Given the description of an element on the screen output the (x, y) to click on. 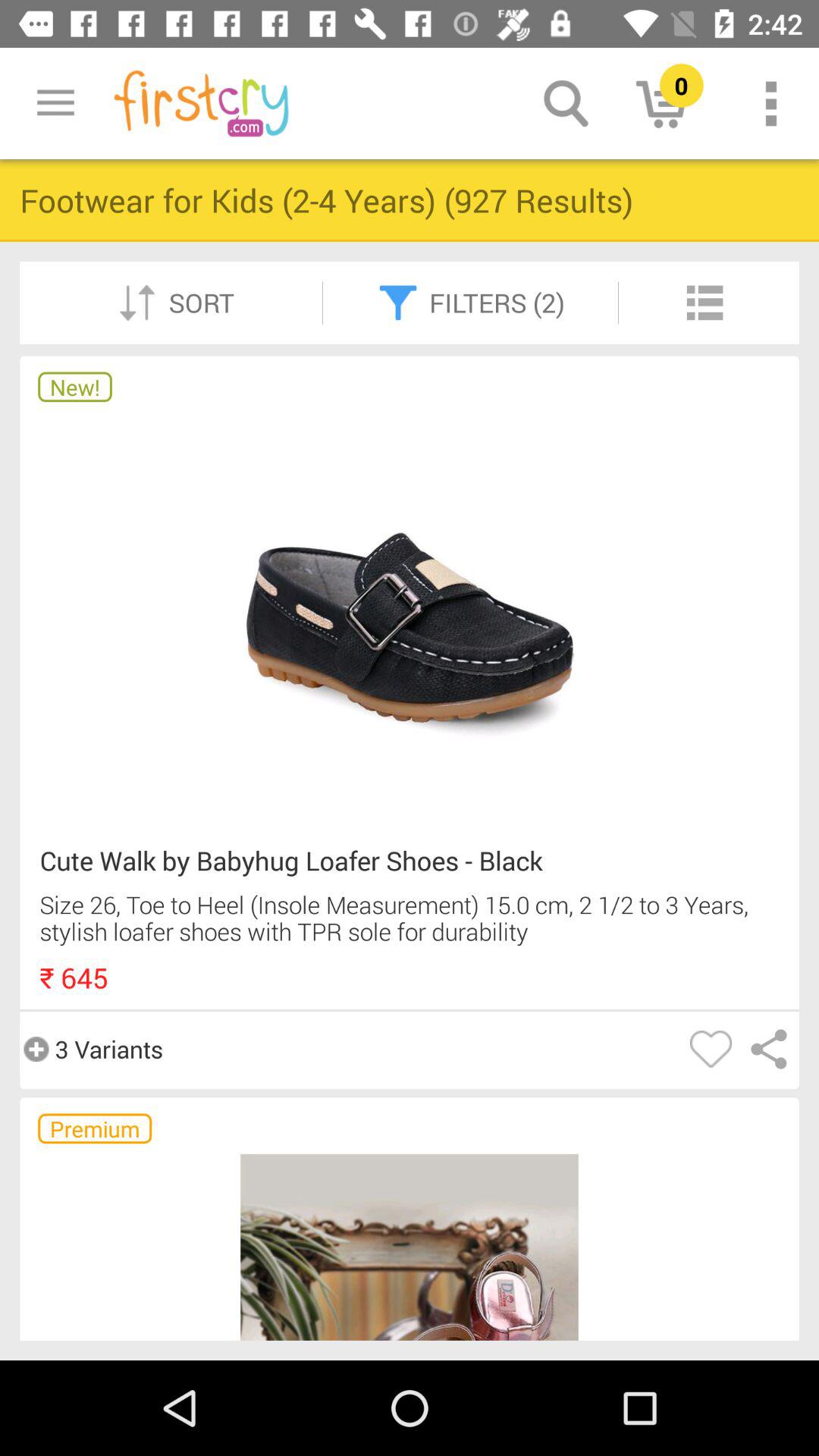
swipe until the 3 variants item (91, 1049)
